Given the description of an element on the screen output the (x, y) to click on. 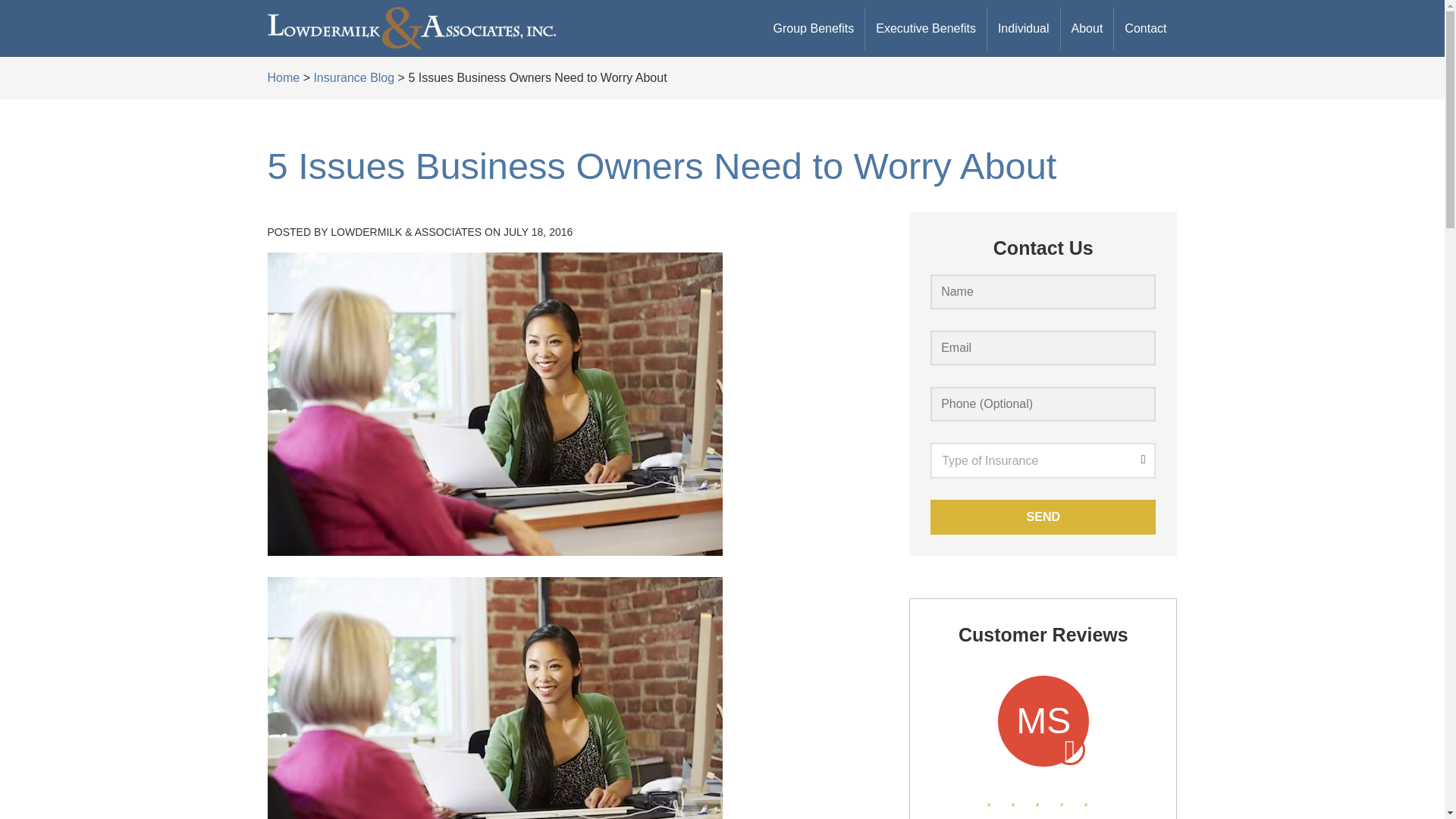
About (1087, 28)
Home (282, 77)
Lowdermilk Associates Inc (410, 28)
Contact (1144, 28)
Executive Benefits (925, 28)
Group Benefits (813, 28)
Insurance Blog (353, 77)
Send (1043, 516)
Home Page (411, 28)
Individual (1023, 28)
